Given the description of an element on the screen output the (x, y) to click on. 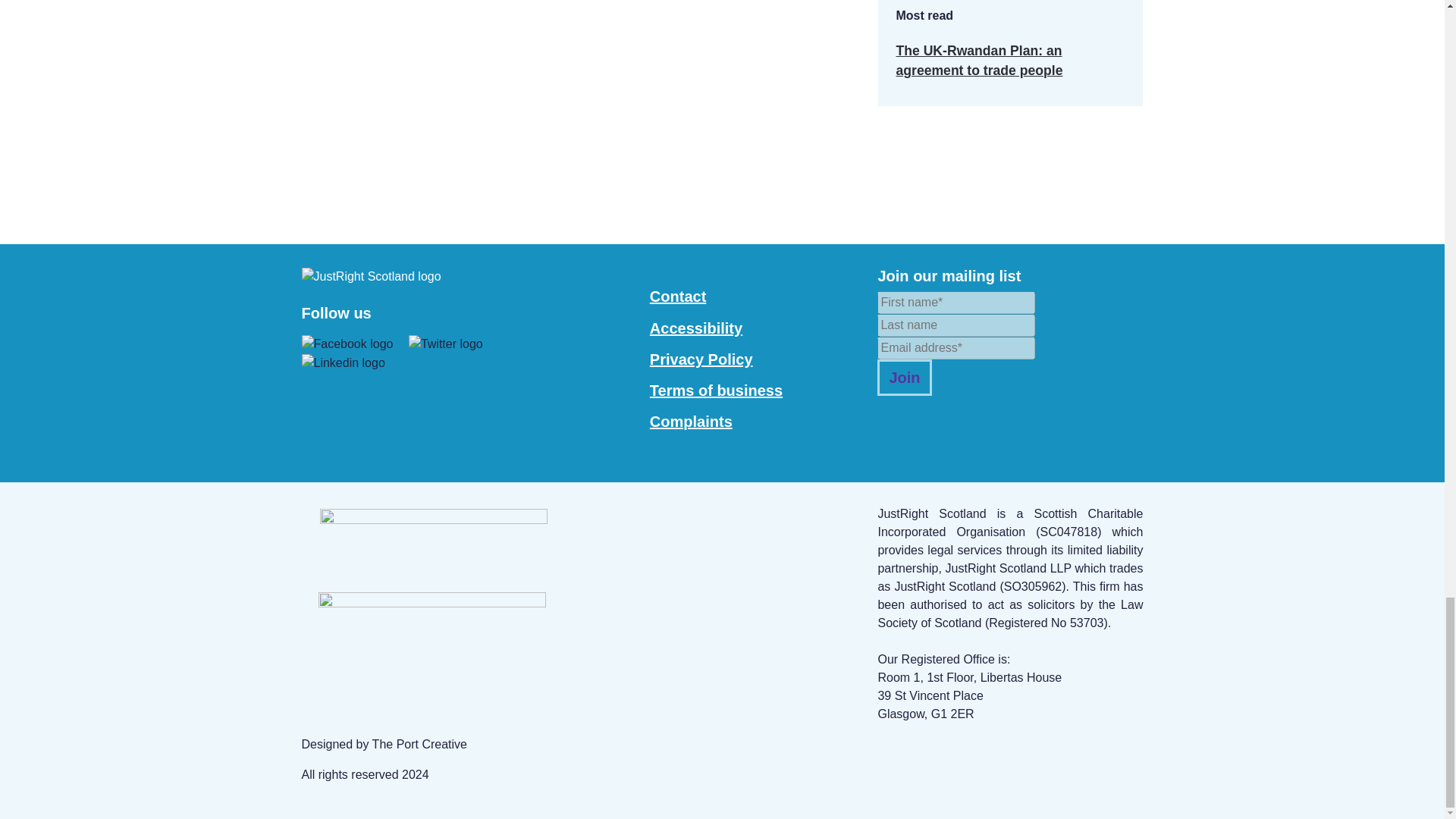
Facebook opens in new widow (347, 342)
Linkedin opens in new widow (343, 361)
Facebook opens in new widow (446, 342)
